Given the description of an element on the screen output the (x, y) to click on. 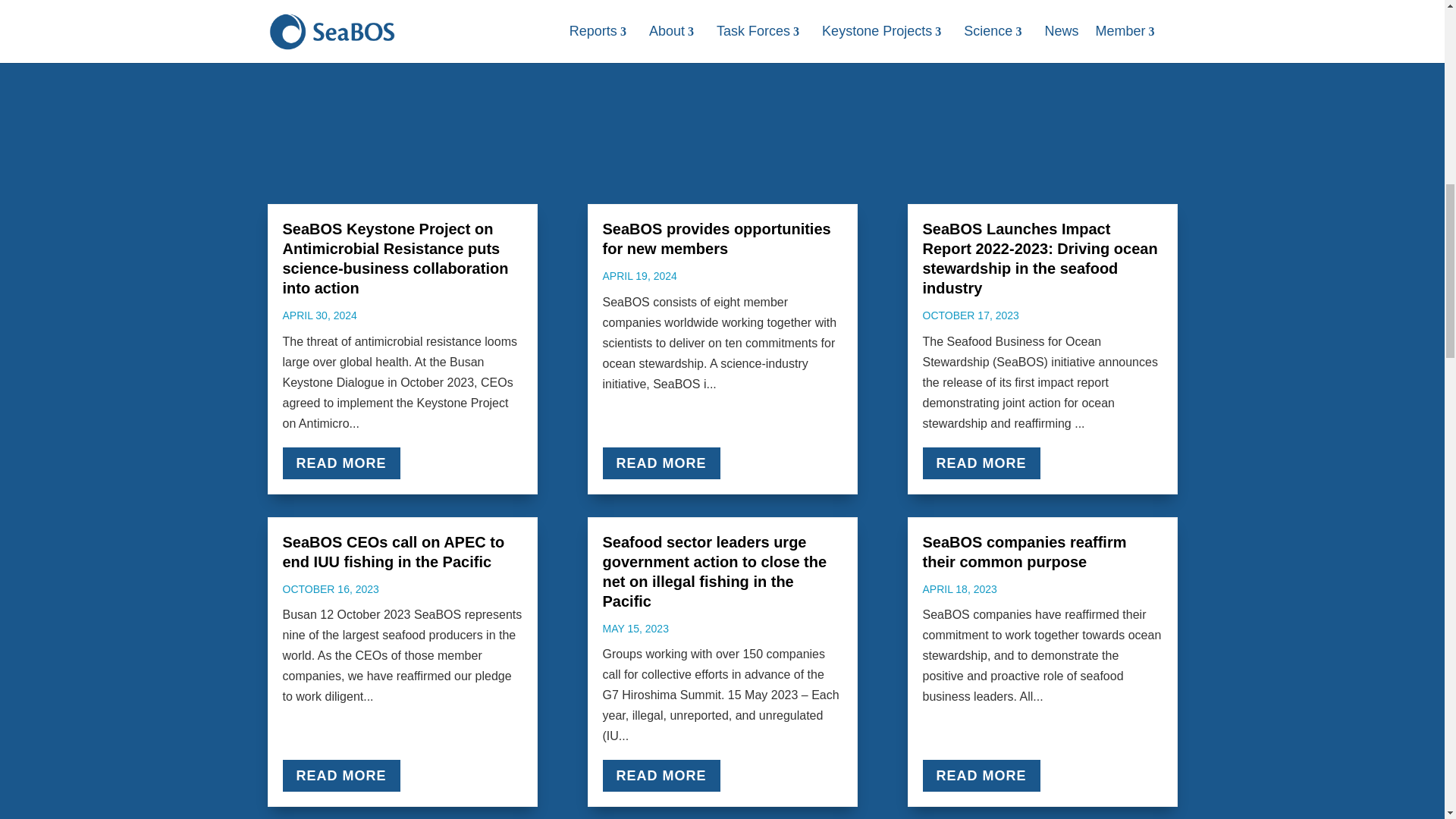
READ MORE (340, 462)
SeaBOS provides opportunities for new members (715, 238)
